Given the description of an element on the screen output the (x, y) to click on. 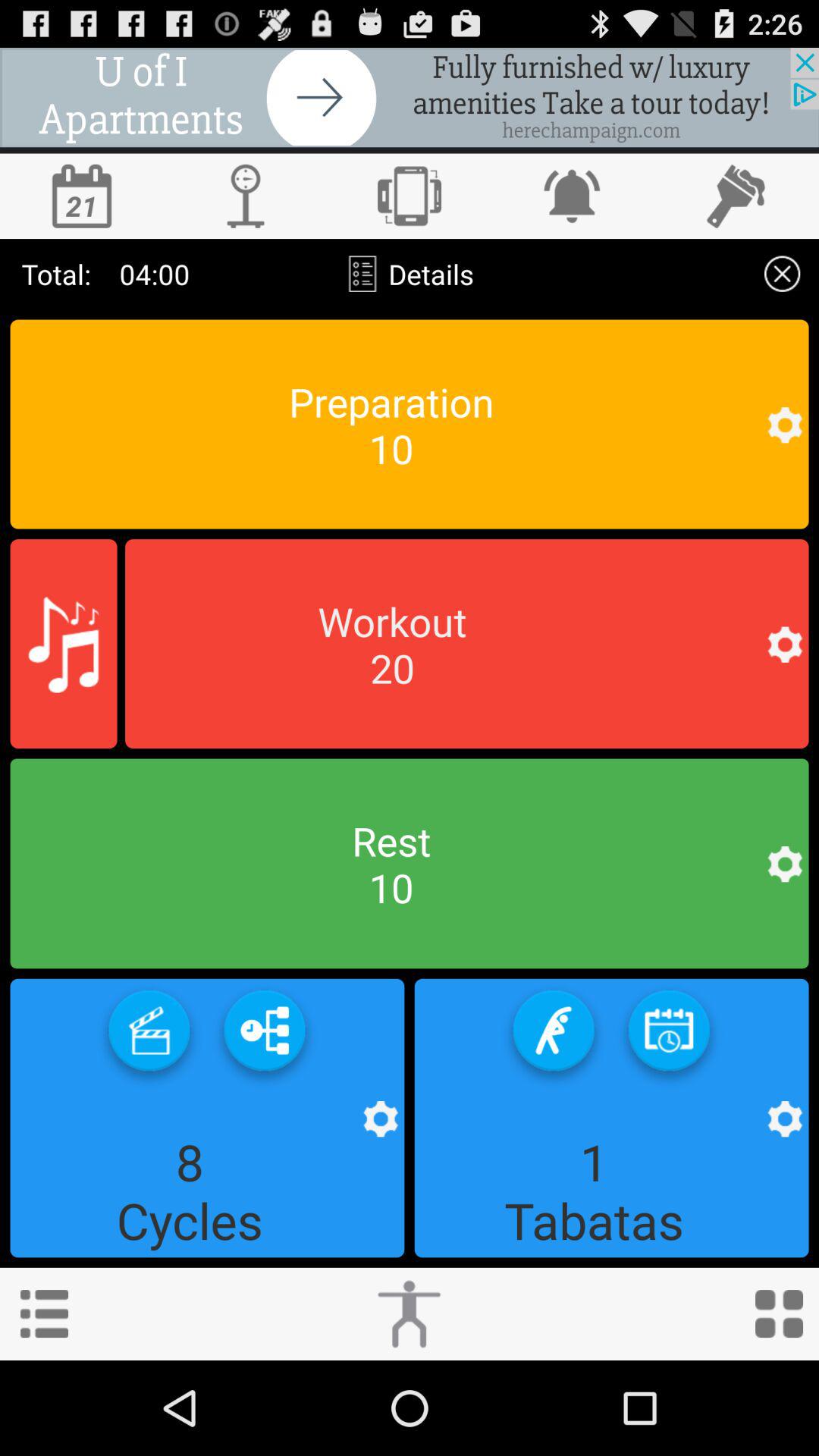
switch screen view to horizontal/vertical (409, 195)
